Given the description of an element on the screen output the (x, y) to click on. 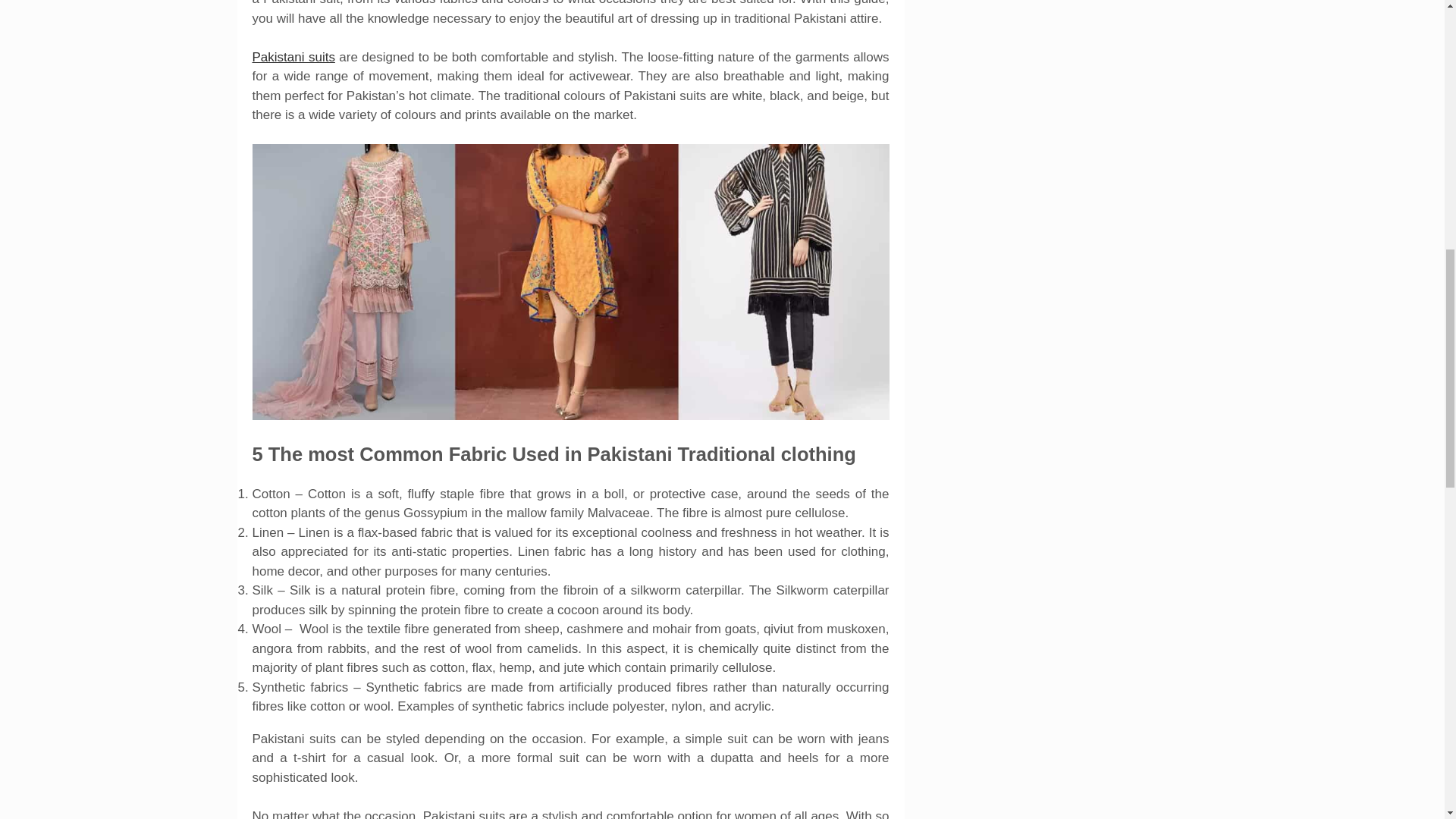
Pakistani suits (292, 56)
